Given the description of an element on the screen output the (x, y) to click on. 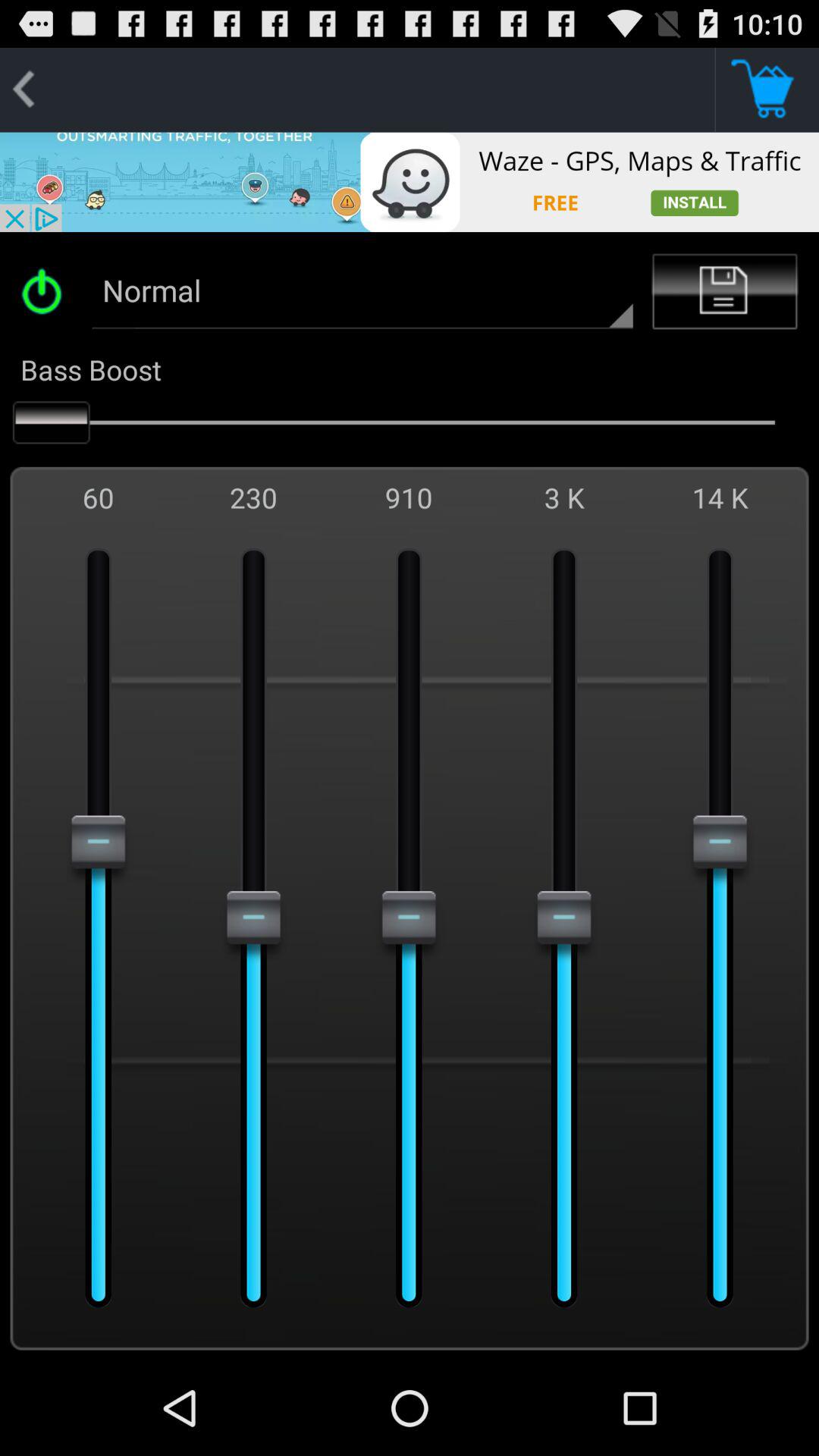
turn off equalizer (47, 291)
